Given the description of an element on the screen output the (x, y) to click on. 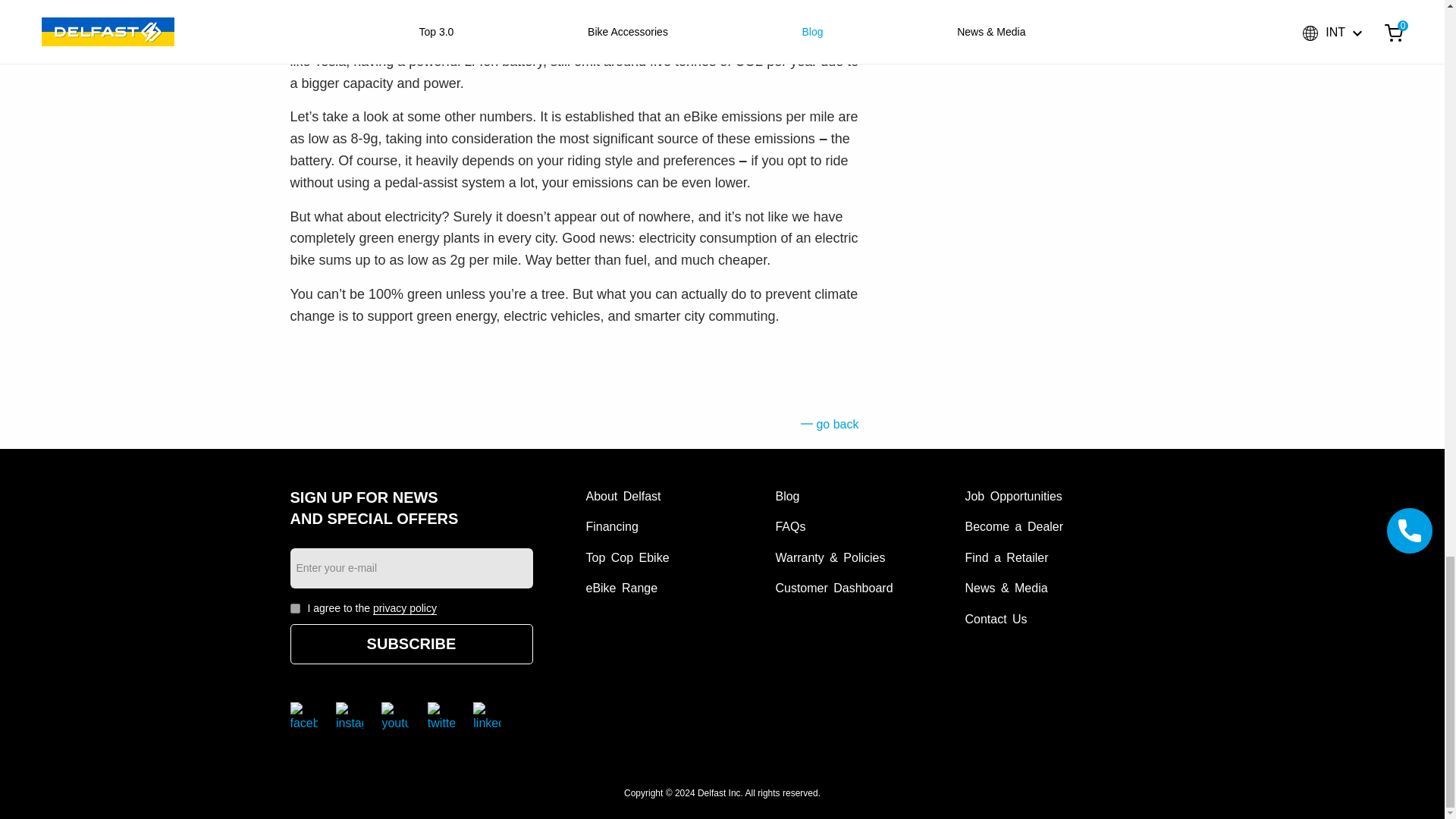
Become a Dealer (1012, 526)
Blog (786, 495)
FAQs (789, 526)
eBike Range (621, 587)
Top Cop Ebike (626, 557)
Customer Dashboard (833, 587)
on (294, 608)
Find a Retailer (1005, 557)
About Delfast (623, 495)
Financing (611, 526)
